Given the description of an element on the screen output the (x, y) to click on. 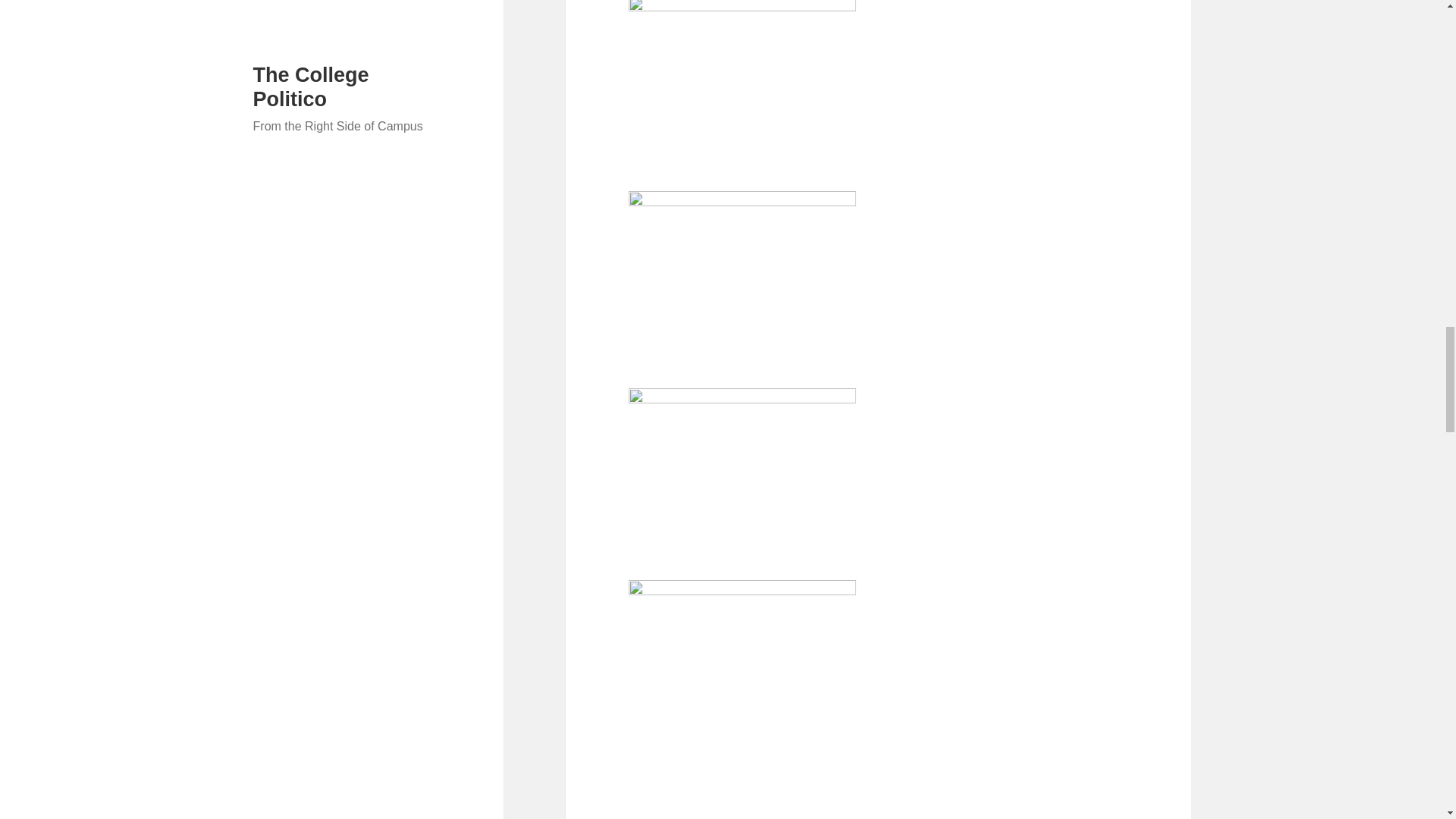
train set only a church (742, 670)
racist snow (742, 470)
obama love (742, 82)
messy room (742, 275)
